Given the description of an element on the screen output the (x, y) to click on. 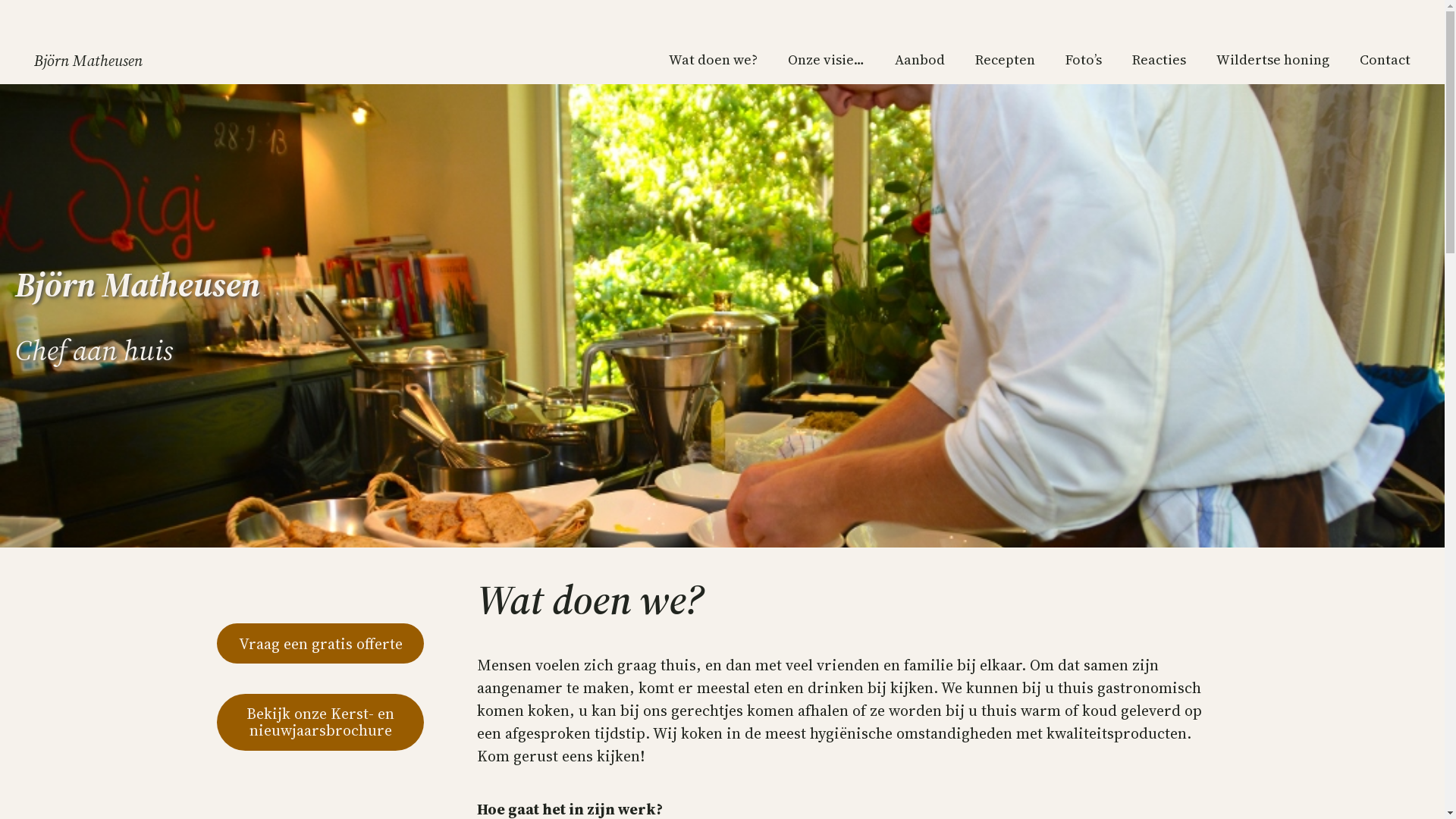
Aanbod Element type: text (919, 59)
Vraag een gratis offerte Element type: text (319, 643)
Contact Element type: text (1384, 59)
Wat doen we? Element type: text (712, 59)
Recepten Element type: text (1005, 59)
Wildertse honing Element type: text (1272, 59)
Bekijk onze Kerst- en
nieuwjaarsbrochure Element type: text (319, 721)
Reacties Element type: text (1159, 59)
